Given the description of an element on the screen output the (x, y) to click on. 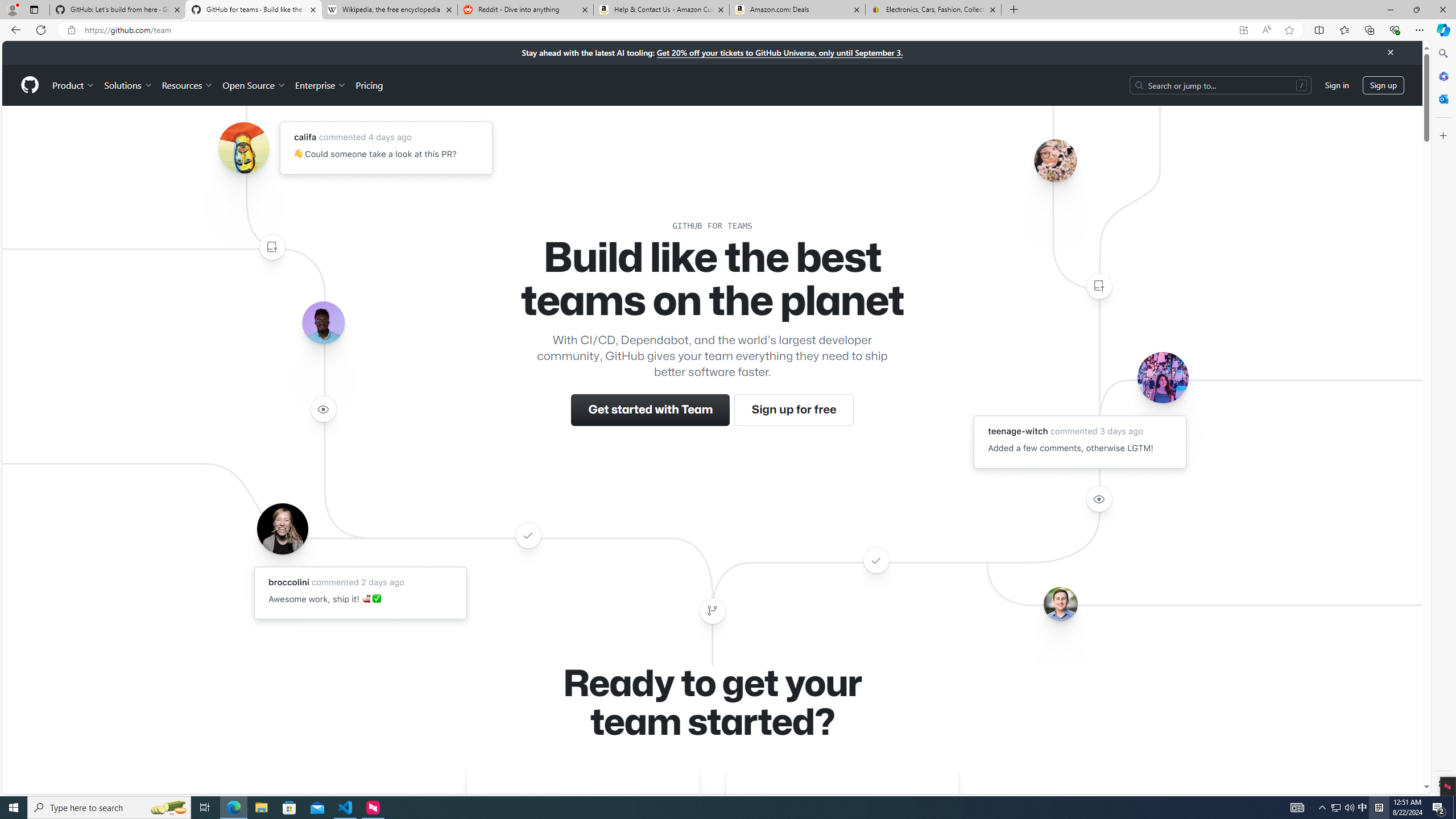
Sign up (1382, 84)
Enterprise (319, 84)
Pricing (368, 84)
Open Source (254, 84)
Resources (187, 84)
Avatar of the user ohjoycelau (1054, 159)
Get started with Team (650, 409)
Electronics, Cars, Fashion, Collectibles & More | eBay (933, 9)
Sign in (1336, 84)
Avatar of the user benbalter (1059, 604)
